Given the description of an element on the screen output the (x, y) to click on. 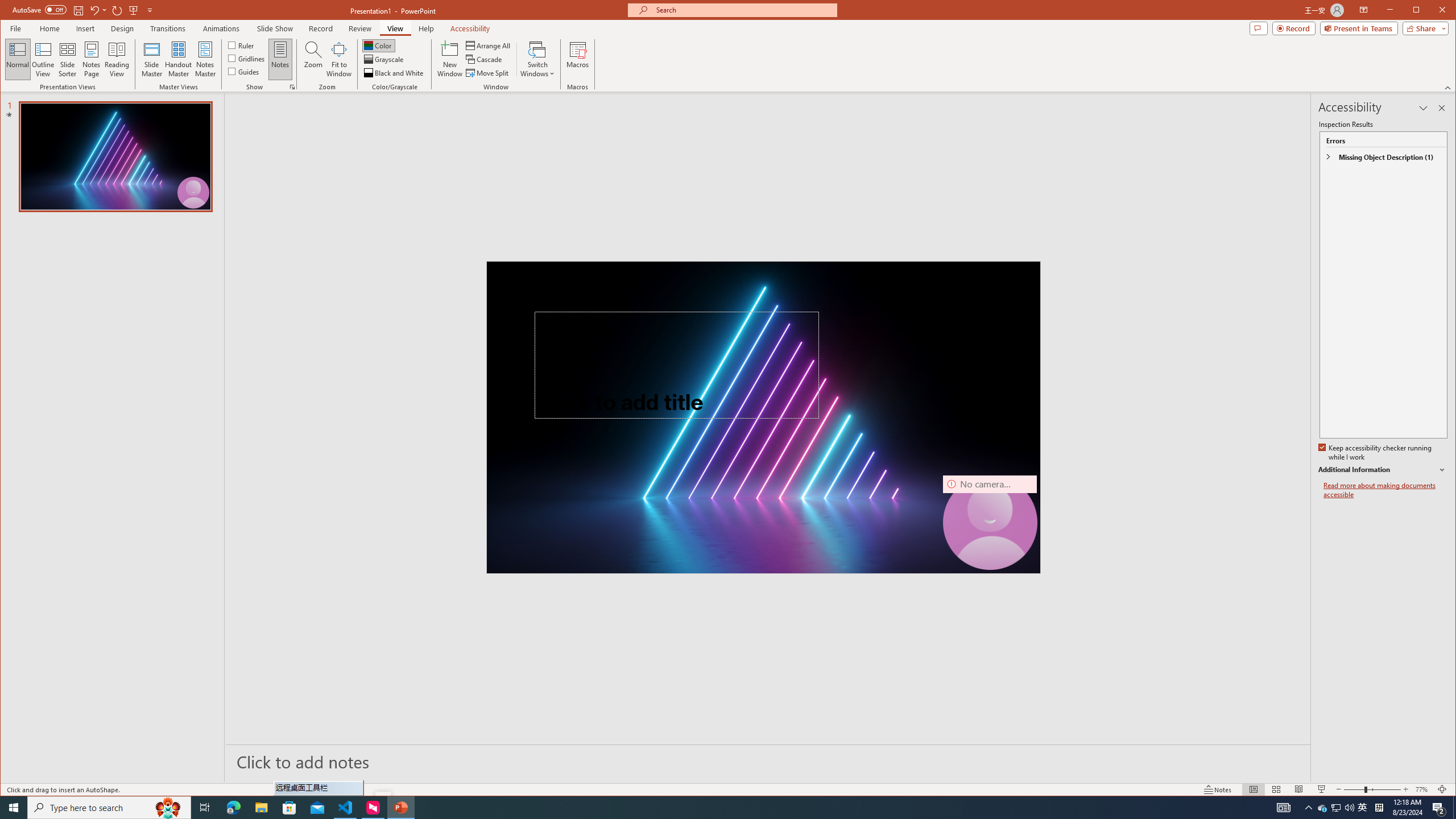
Camera 7, No camera detected. (990, 522)
Slide Master (151, 59)
Black and White (394, 72)
Zoom 77% (1422, 789)
